Given the description of an element on the screen output the (x, y) to click on. 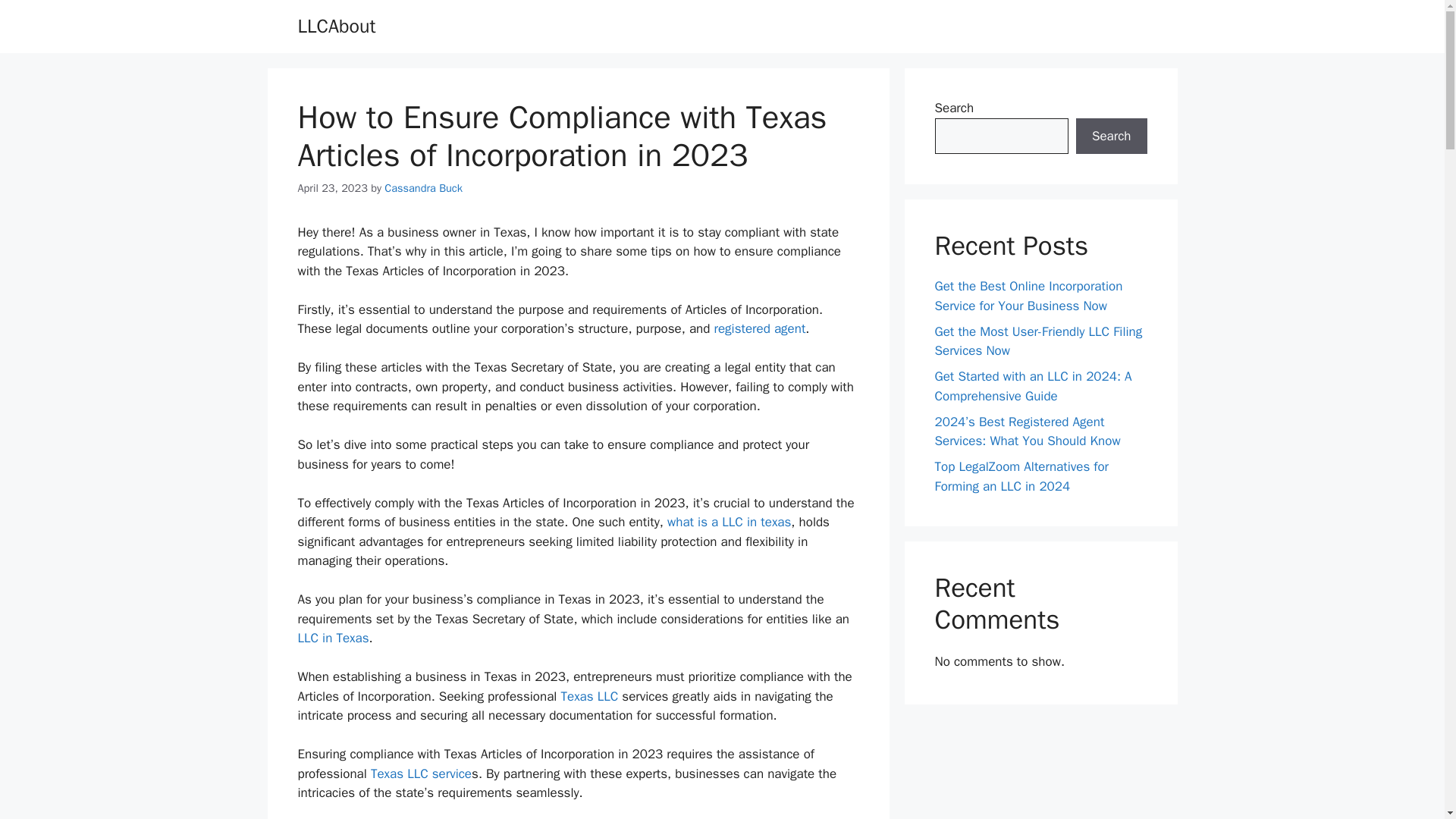
2024's Best Registered Agent Services: What You Should Know (759, 328)
Top LegalZoom Alternatives for Forming an LLC in 2024 (1021, 476)
Get the Most User-Friendly LLC Filing Services Now (1037, 340)
Cassandra Buck (423, 187)
LLC in Texas (332, 637)
Search (1111, 135)
Texas LLC (588, 696)
registered agent (759, 328)
